Given the description of an element on the screen output the (x, y) to click on. 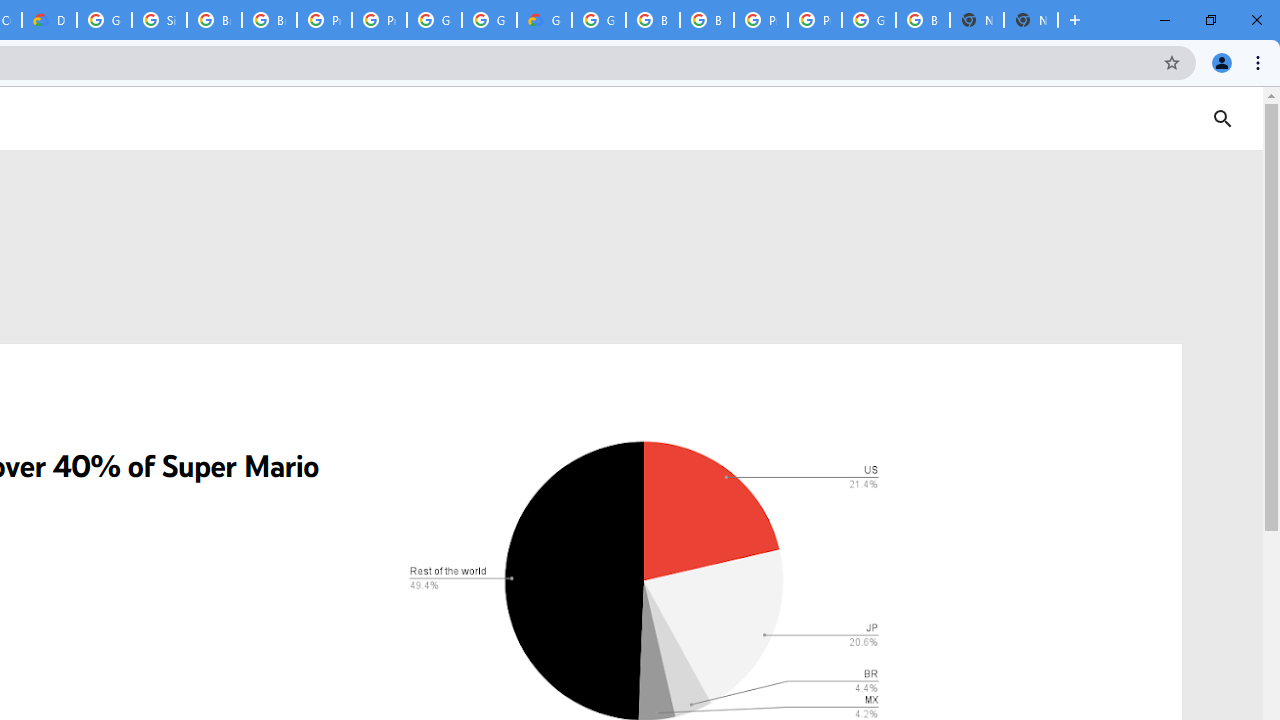
Google Cloud Estimate Summary (544, 20)
Browse Chrome as a guest - Computer - Google Chrome Help (652, 20)
Google Cloud Platform (434, 20)
New Tab (1030, 20)
Google Cloud Platform (598, 20)
Google Cloud Platform (489, 20)
Browse Chrome as a guest - Computer - Google Chrome Help (268, 20)
Sign in - Google Accounts (158, 20)
